Given the description of an element on the screen output the (x, y) to click on. 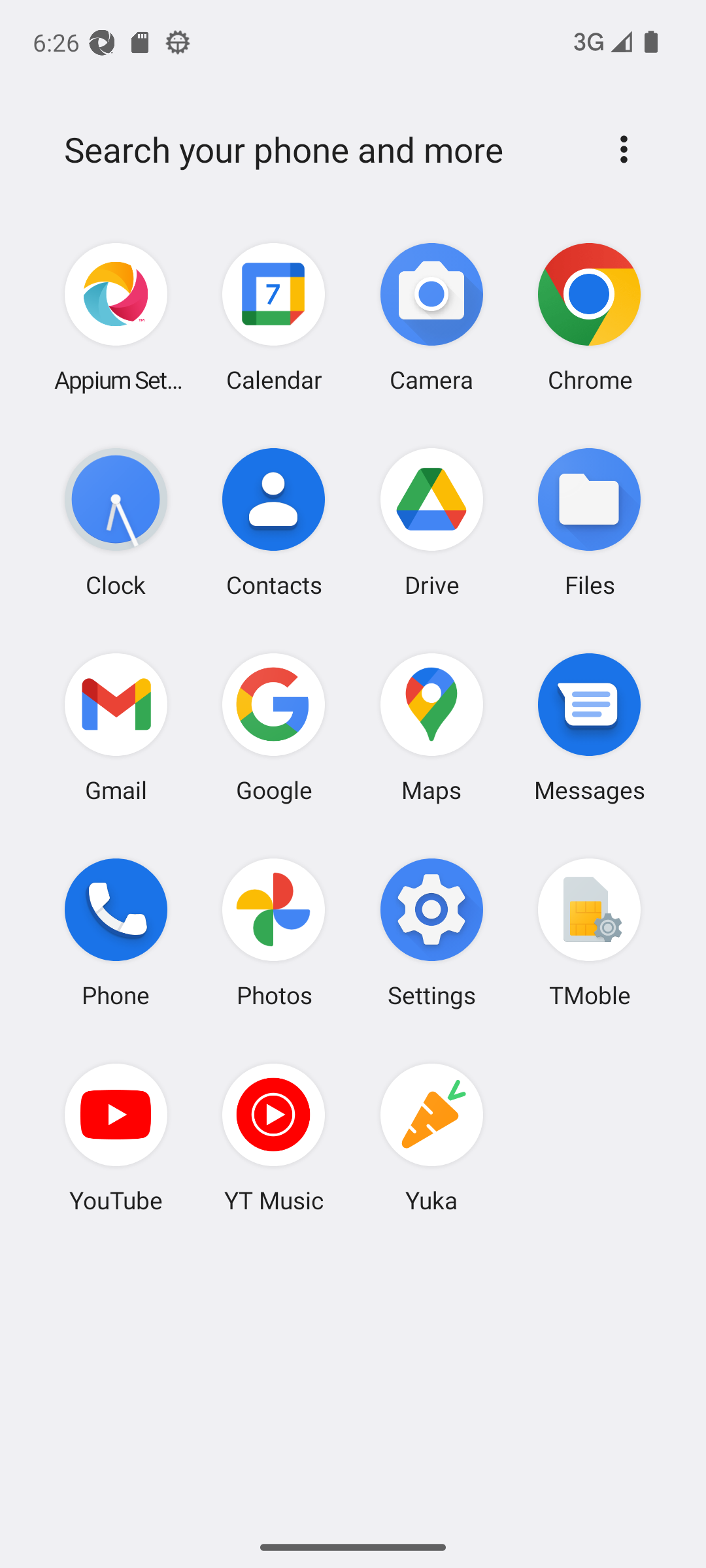
Search your phone and more (321, 149)
Preferences (623, 149)
Appium Settings (115, 317)
Calendar (273, 317)
Camera (431, 317)
Chrome (589, 317)
Clock (115, 522)
Contacts (273, 522)
Drive (431, 522)
Files (589, 522)
Gmail (115, 726)
Google (273, 726)
Maps (431, 726)
Messages (589, 726)
Phone (115, 931)
Photos (273, 931)
Settings (431, 931)
TMoble (589, 931)
YouTube (115, 1137)
YT Music (273, 1137)
Yuka (431, 1137)
